Given the description of an element on the screen output the (x, y) to click on. 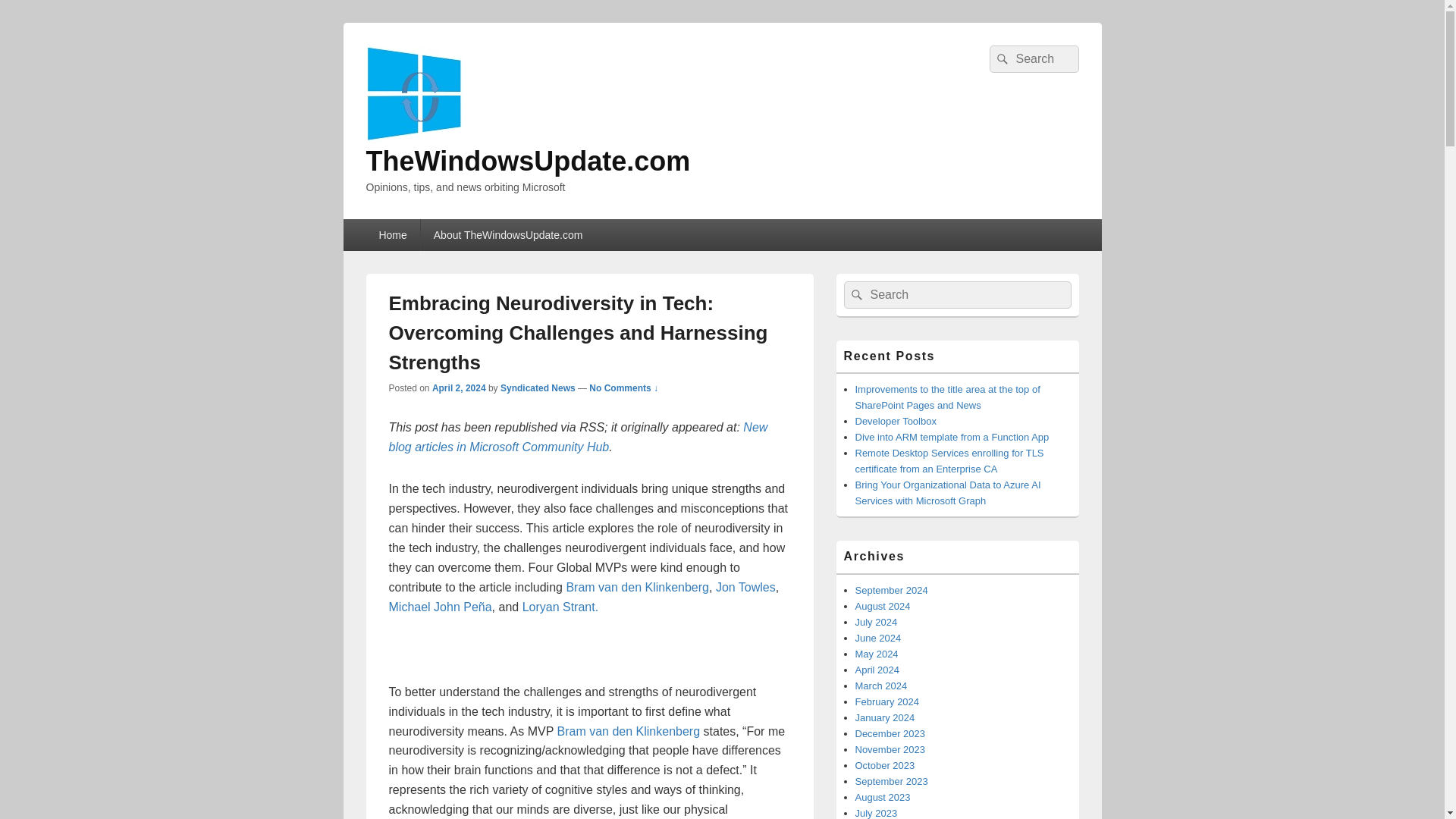
Dive into ARM template from a Function App (952, 437)
August 2024 (883, 605)
Developer Toolbox (896, 420)
May 2024 (877, 654)
11:22 AM (459, 388)
About TheWindowsUpdate.com (507, 234)
September 2024 (892, 590)
New blog articles in Microsoft Community Hub (577, 436)
